Given the description of an element on the screen output the (x, y) to click on. 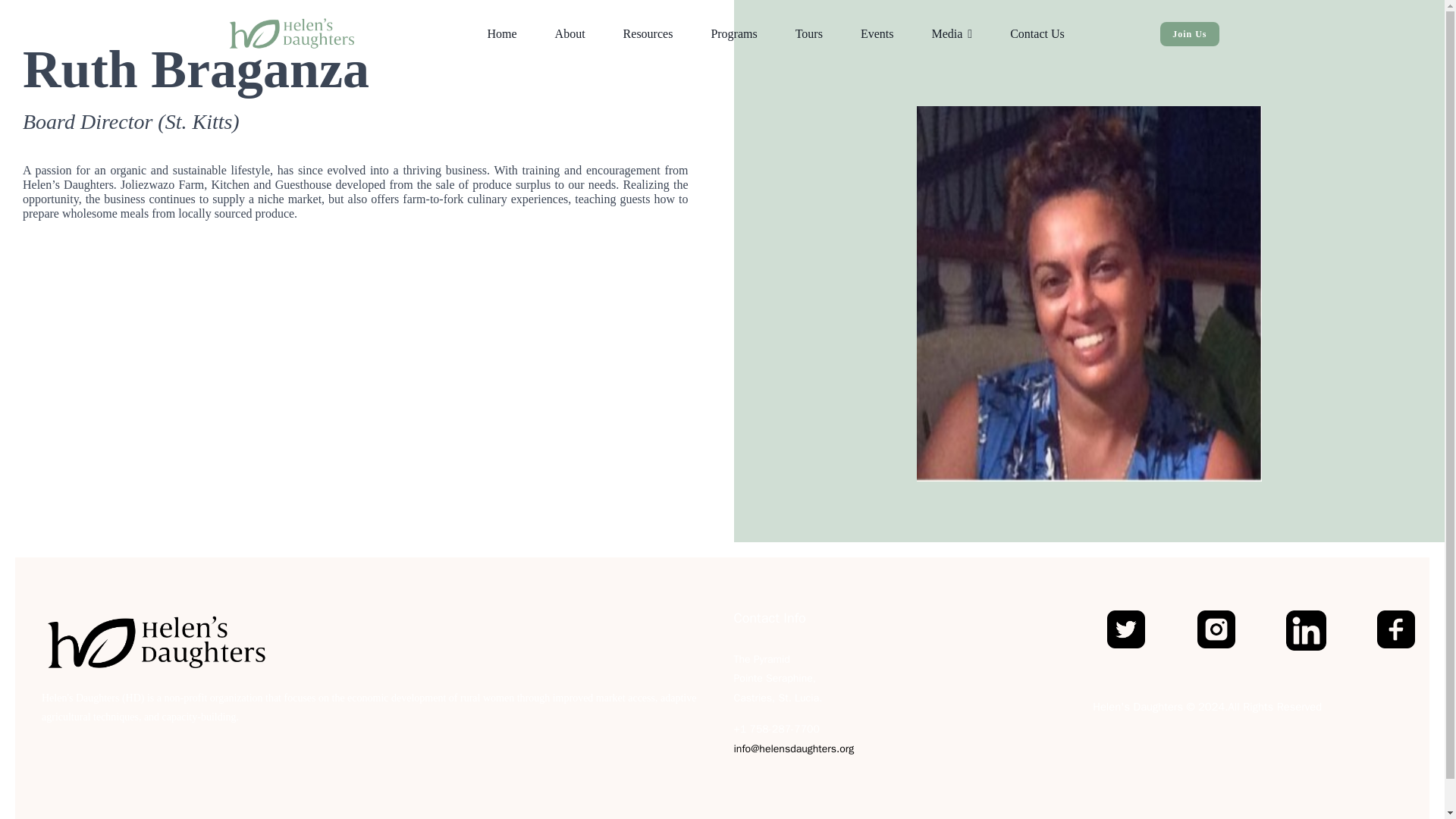
Resources (648, 33)
Media (951, 33)
Join Us (1189, 33)
Events (876, 33)
Home (501, 33)
Contact Us (1037, 33)
Tours (808, 33)
Programs (733, 33)
About (569, 33)
